Given the description of an element on the screen output the (x, y) to click on. 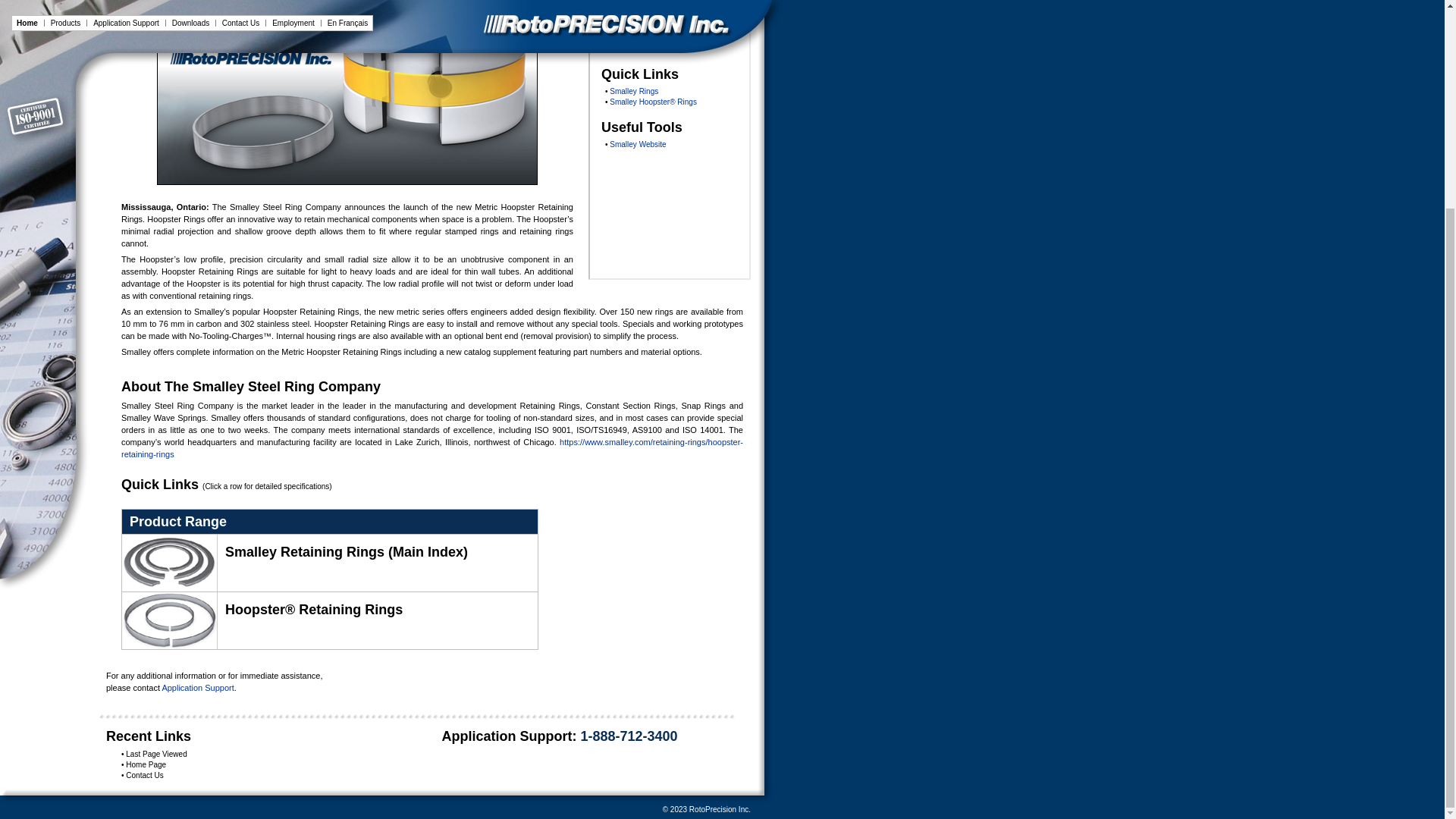
Last Page Viewed (155, 754)
Application Support (196, 687)
Smalley Rings (634, 90)
Contact Us (144, 775)
Smalley Website (637, 144)
Home Page (145, 764)
